Given the description of an element on the screen output the (x, y) to click on. 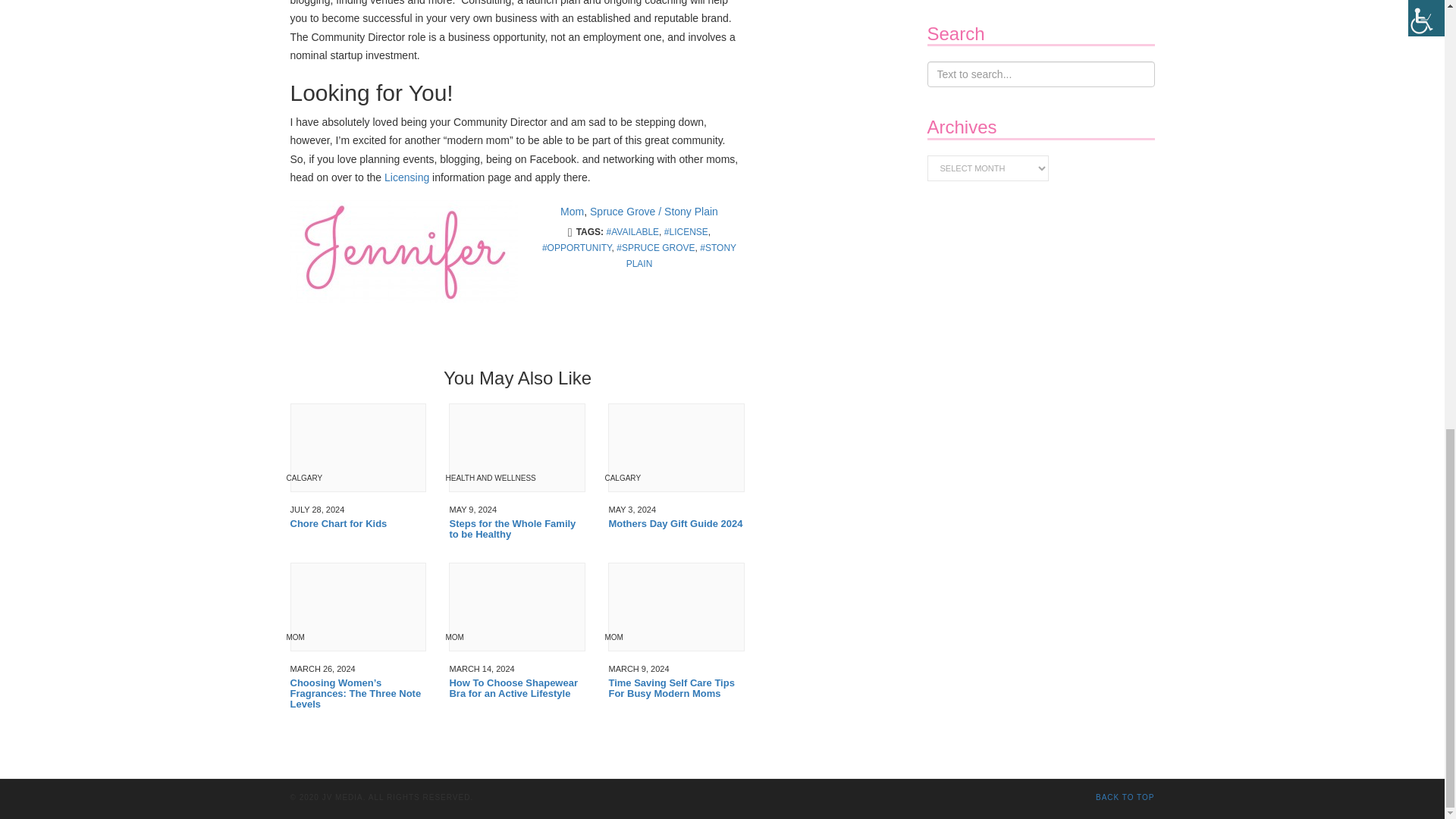
How To Choose Shapewear Bra for an Active Lifestyle (516, 689)
Mothers Day Gift Guide 2024 (676, 523)
Licensing (406, 177)
Chore Chart for Kids (357, 523)
Mom (571, 211)
Steps for the Whole Family to be Healthy (516, 529)
Time Saving Self Care Tips For Busy Modern Moms (676, 689)
Search for: (1040, 73)
